Given the description of an element on the screen output the (x, y) to click on. 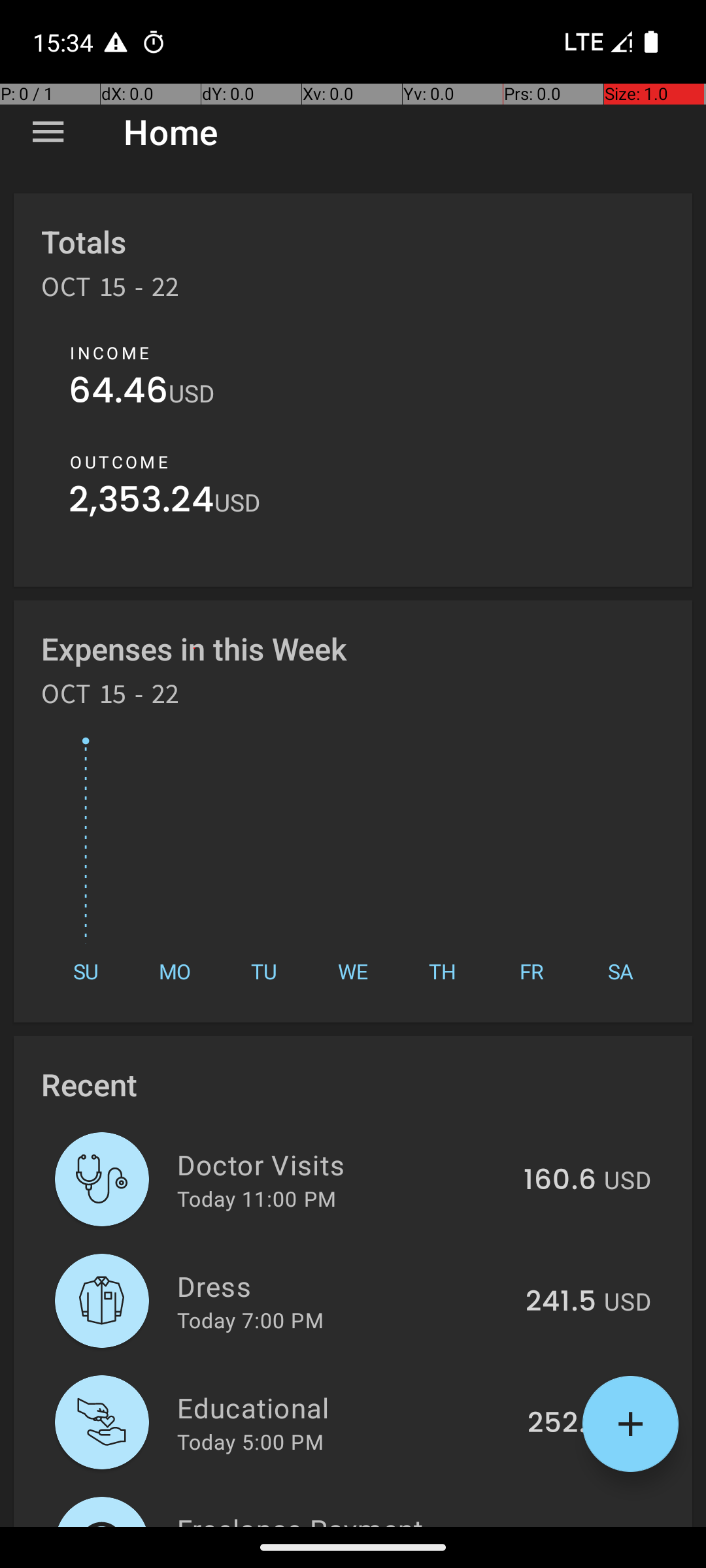
64.46 Element type: android.widget.TextView (118, 393)
2,353.24 Element type: android.widget.TextView (141, 502)
Doctor Visits Element type: android.widget.TextView (342, 1164)
Today 11:00 PM Element type: android.widget.TextView (256, 1198)
160.6 Element type: android.widget.TextView (559, 1180)
Dress Element type: android.widget.TextView (343, 1285)
Today 7:00 PM Element type: android.widget.TextView (250, 1320)
241.5 Element type: android.widget.TextView (560, 1301)
Educational Element type: android.widget.TextView (344, 1407)
Today 5:00 PM Element type: android.widget.TextView (250, 1441)
252.1 Element type: android.widget.TextView (561, 1423)
Freelance Payment Element type: android.widget.TextView (338, 1518)
